Given the description of an element on the screen output the (x, y) to click on. 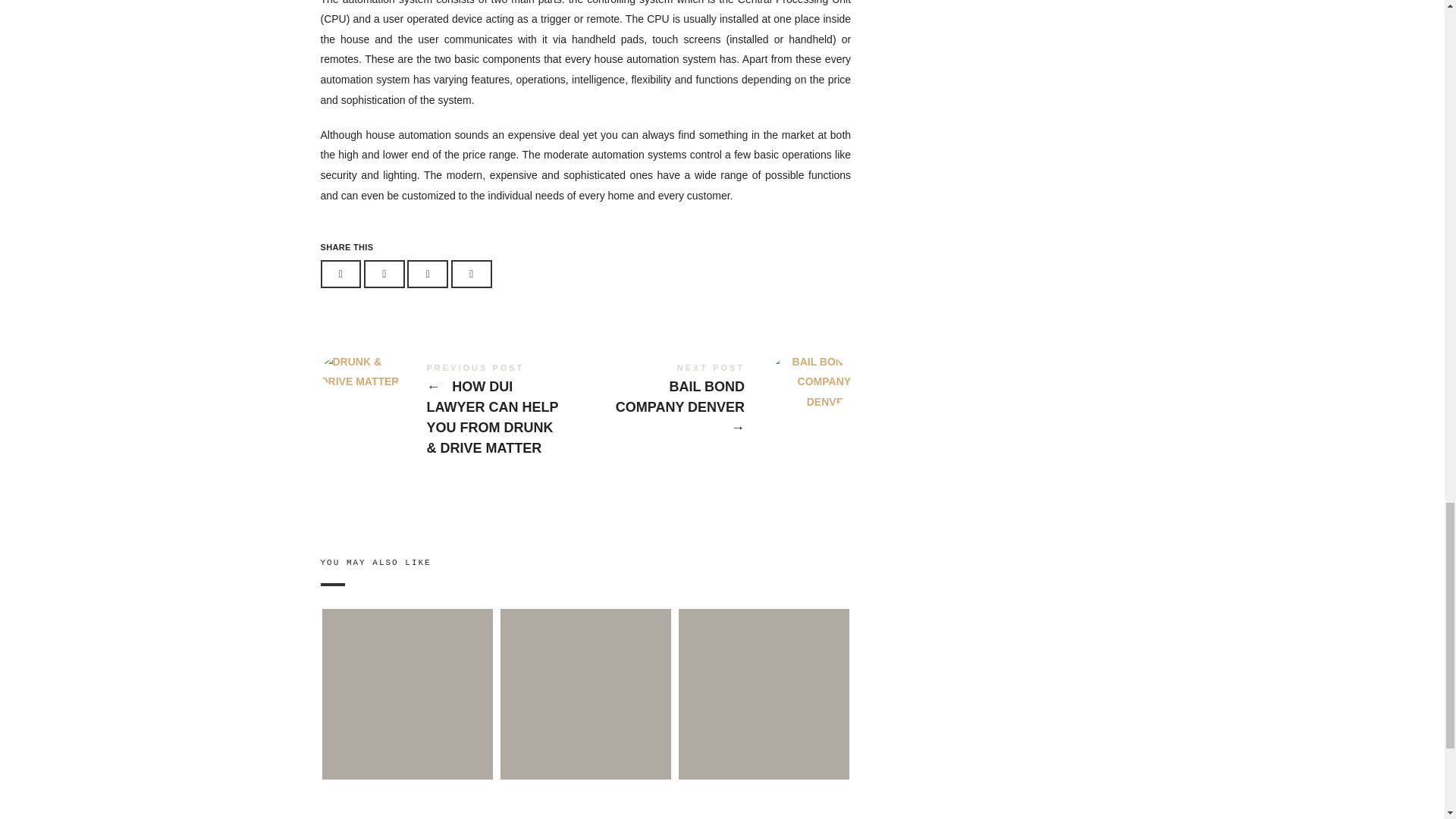
BAIL BOND COMPANY DENVER (717, 401)
Share this post with your followers (384, 274)
Share this post on Facebook (340, 274)
Email this post to a friend (471, 274)
